Given the description of an element on the screen output the (x, y) to click on. 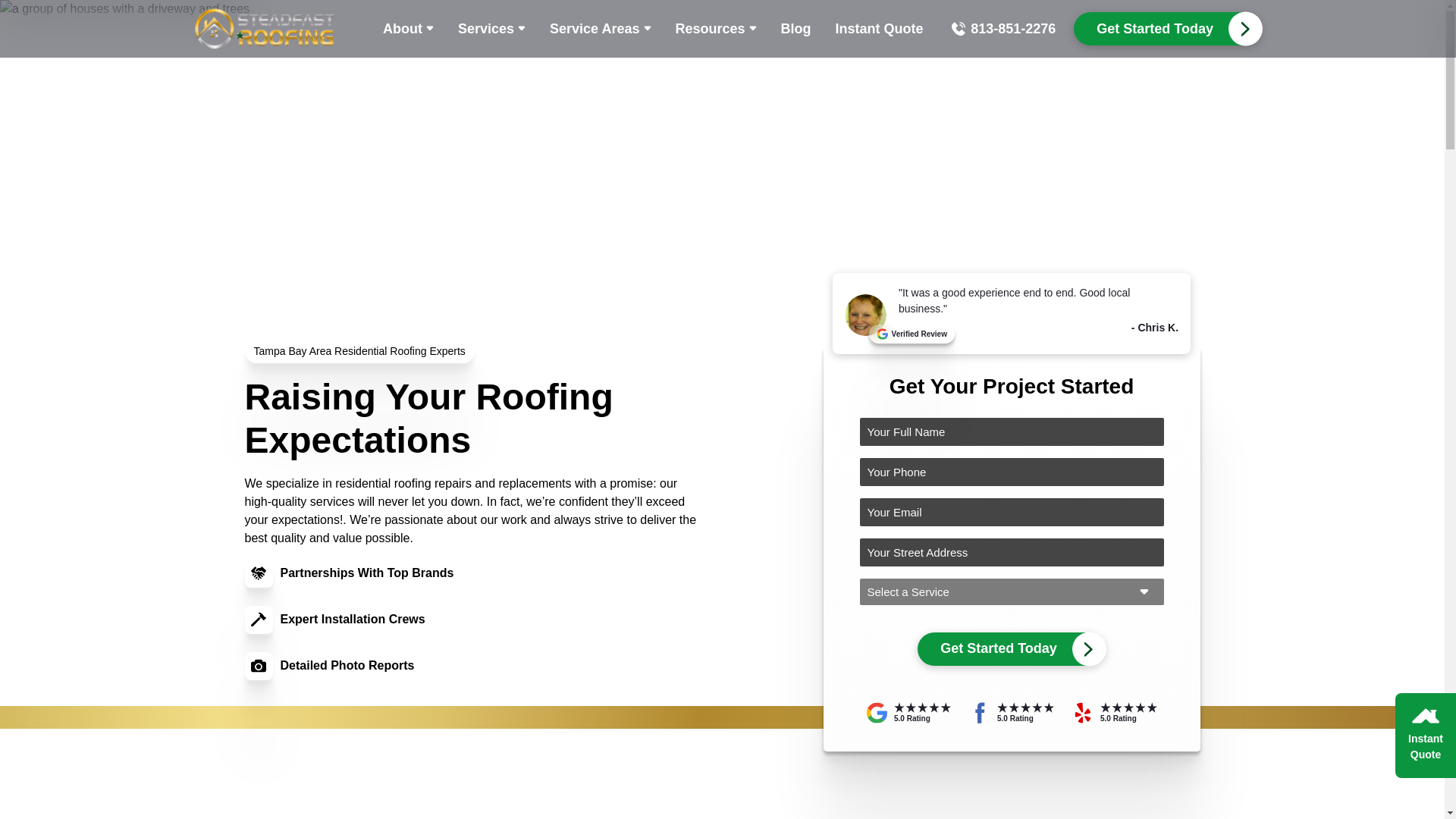
Instant Quote (880, 28)
About (408, 28)
Services (491, 28)
Resources (715, 28)
Blog (796, 28)
Service Areas (599, 28)
